Given the description of an element on the screen output the (x, y) to click on. 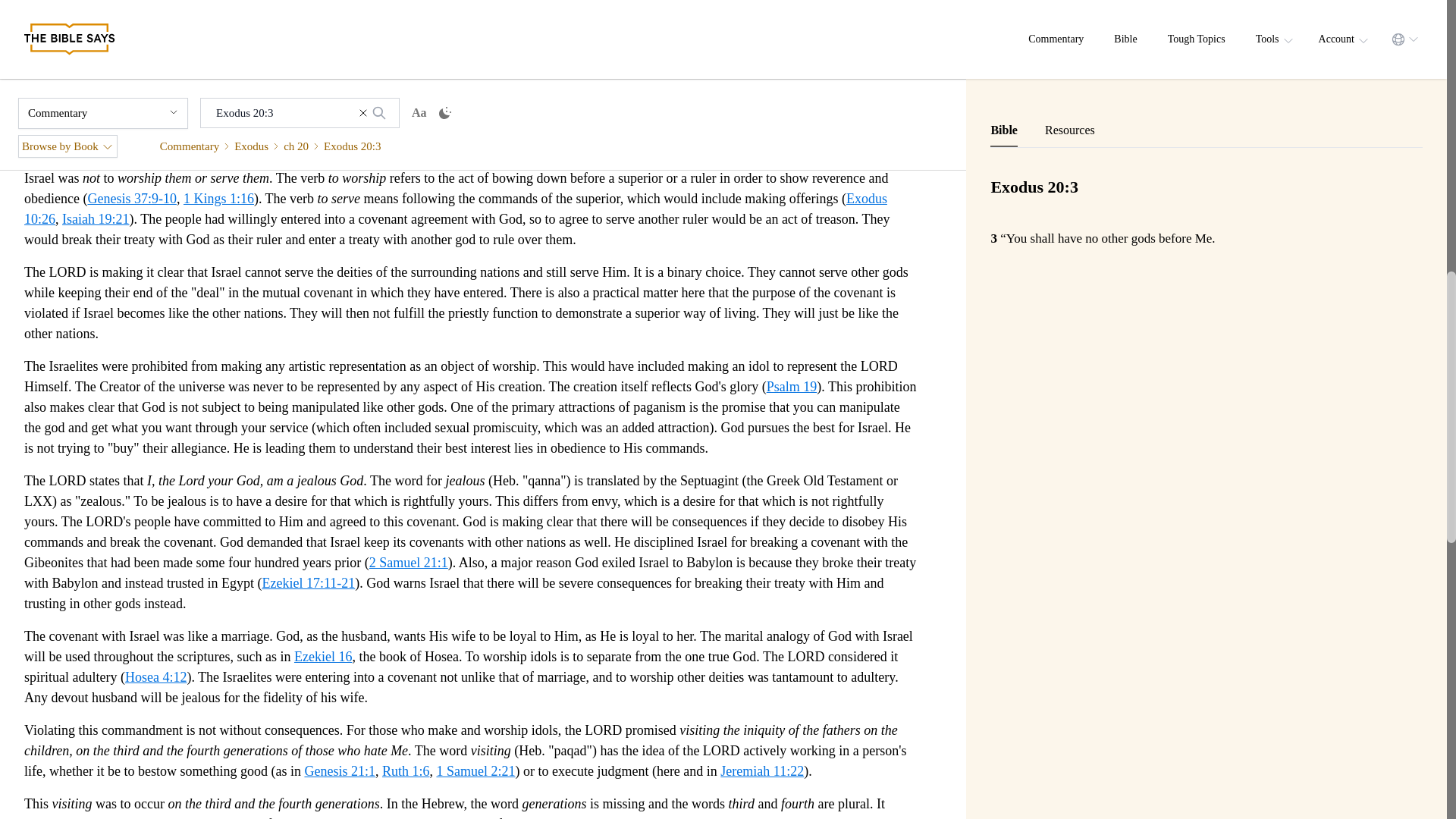
Accept Cookies (979, 41)
